Given the description of an element on the screen output the (x, y) to click on. 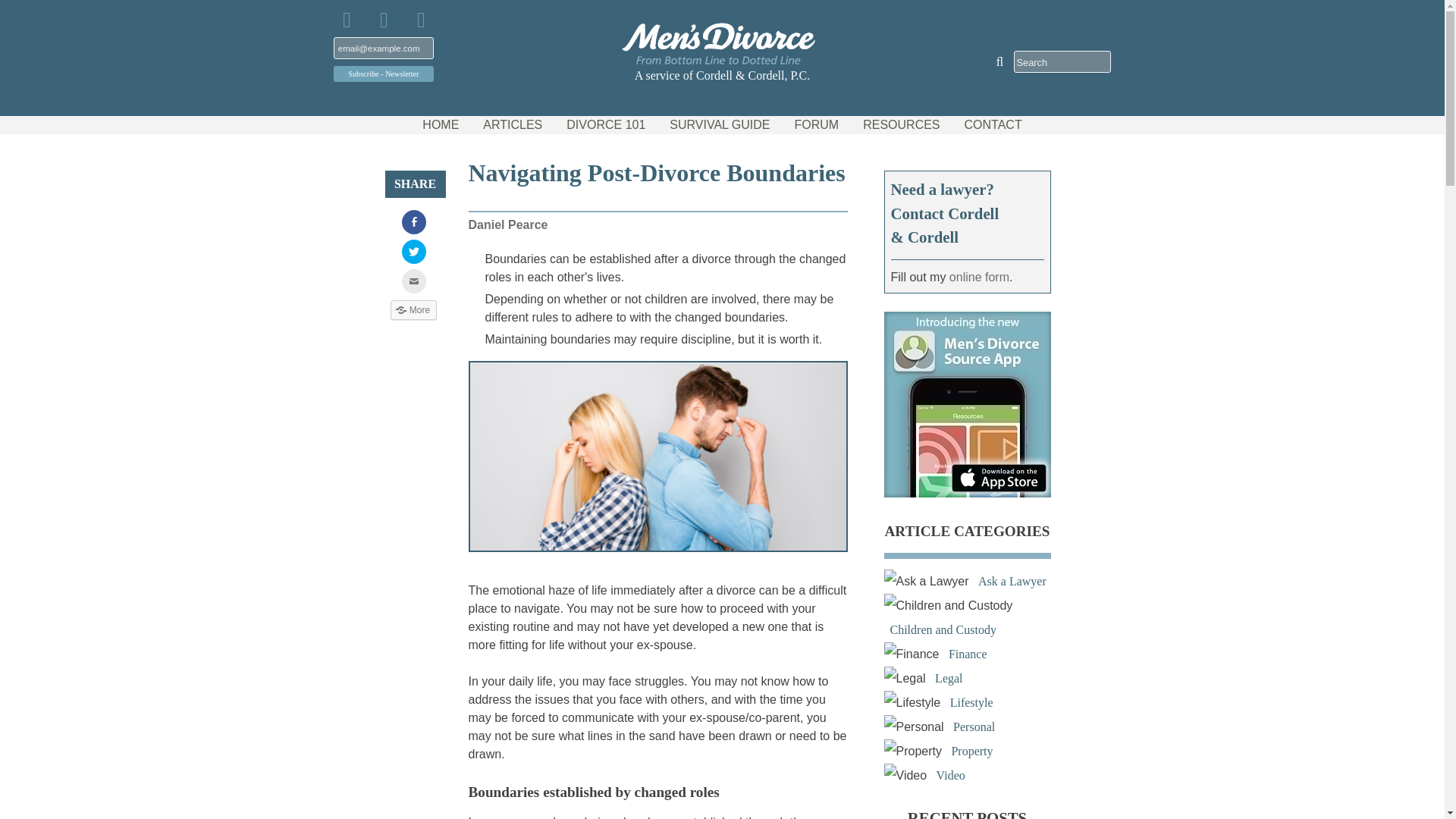
Posts by Daniel Pearce (508, 224)
Subscribe - Newsletter (383, 73)
HOME (440, 125)
SURVIVAL GUIDE (719, 125)
FORUM (817, 125)
Click to email a link to a friend (413, 281)
RESOURCES (901, 125)
Click to share on Facebook (413, 221)
DIVORCE 101 (605, 125)
Daniel Pearce (508, 224)
